Given the description of an element on the screen output the (x, y) to click on. 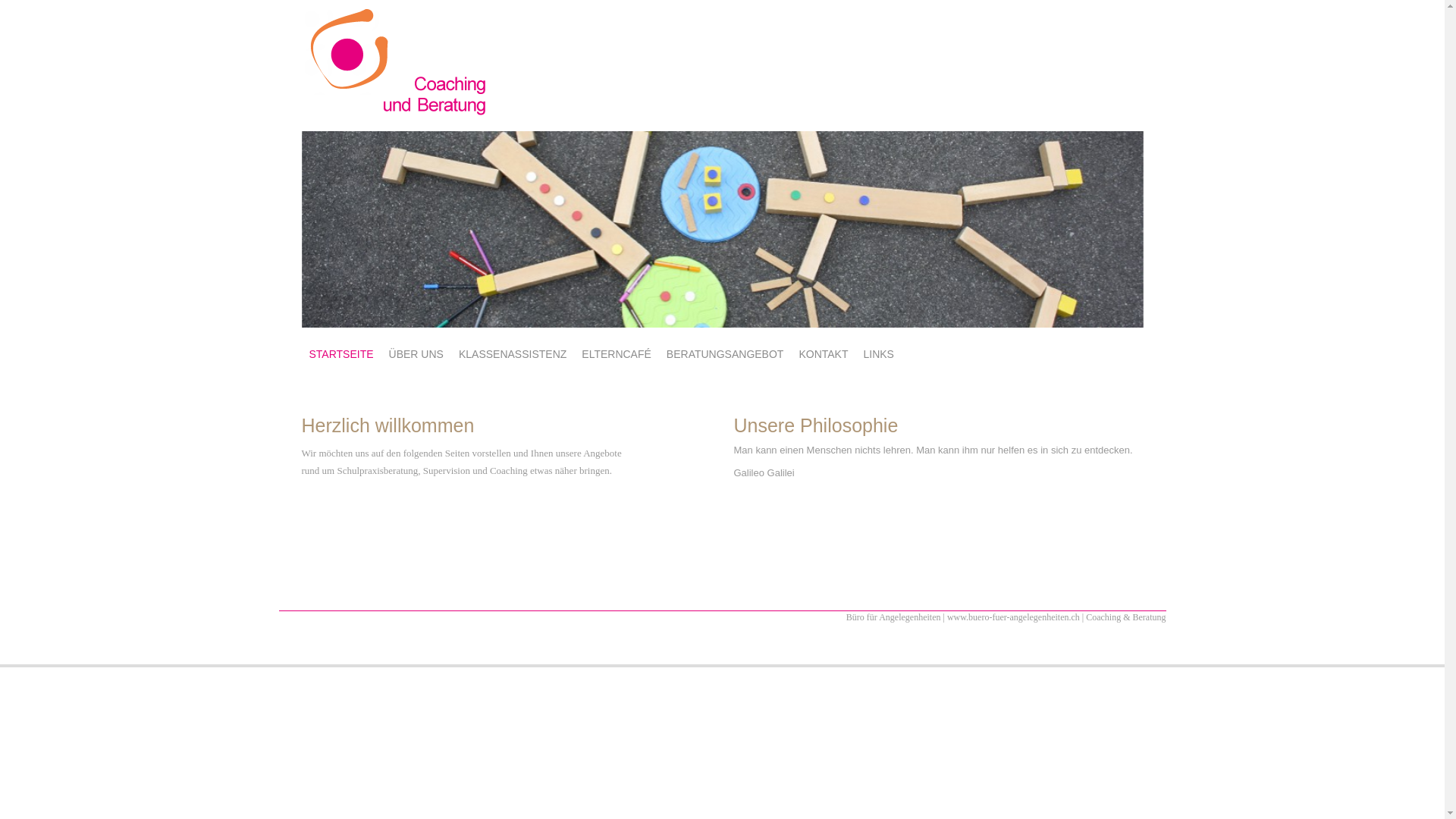
KONTAKT Element type: text (822, 353)
LINKS Element type: text (877, 353)
KLASSENASSISTENZ Element type: text (512, 353)
SKIP TO CONTENT Element type: text (356, 347)
STARTSEITE Element type: text (341, 353)
BERATUNGSANGEBOT Element type: text (724, 353)
